Given the description of an element on the screen output the (x, y) to click on. 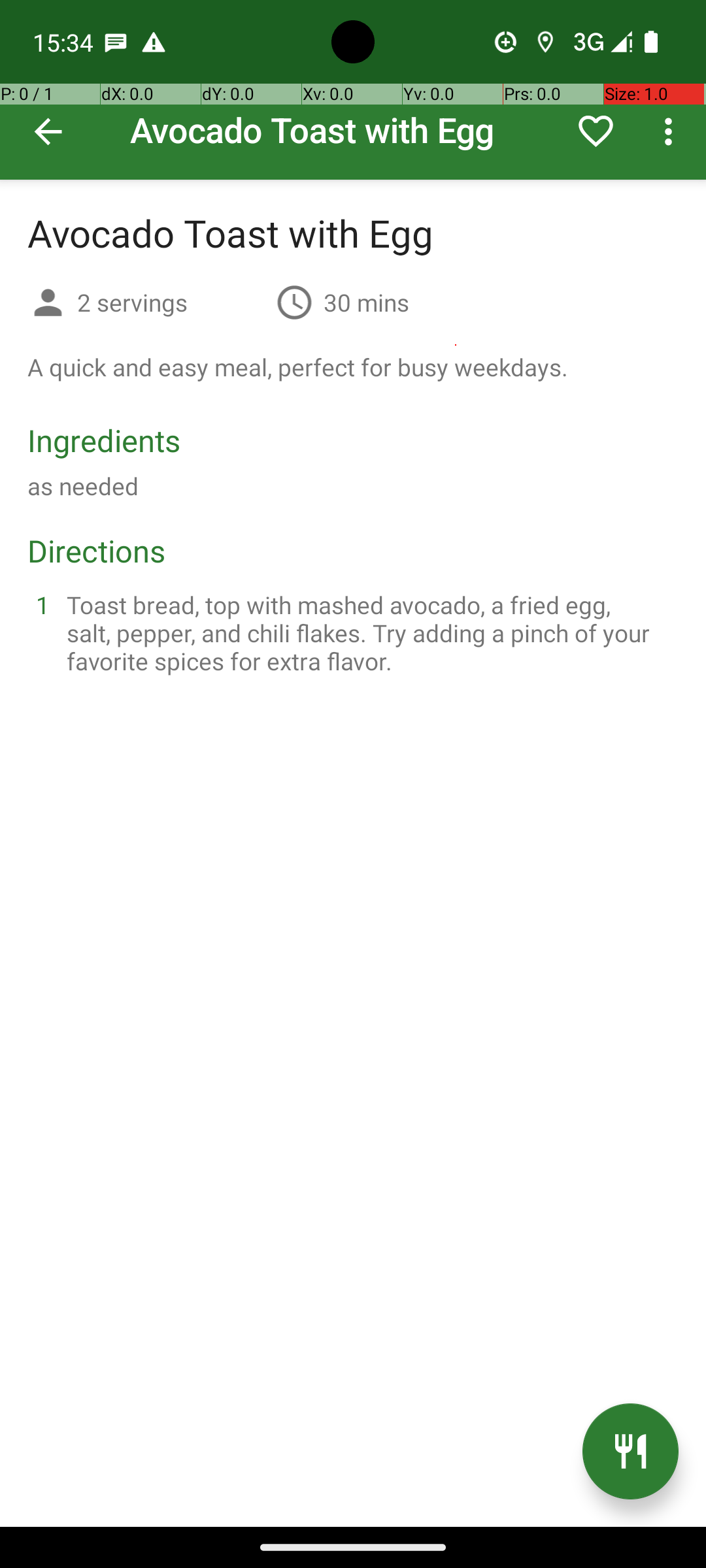
Toast bread, top with mashed avocado, a fried egg, salt, pepper, and chili flakes. Try adding a pinch of your favorite spices for extra flavor. Element type: android.widget.TextView (368, 632)
